Given the description of an element on the screen output the (x, y) to click on. 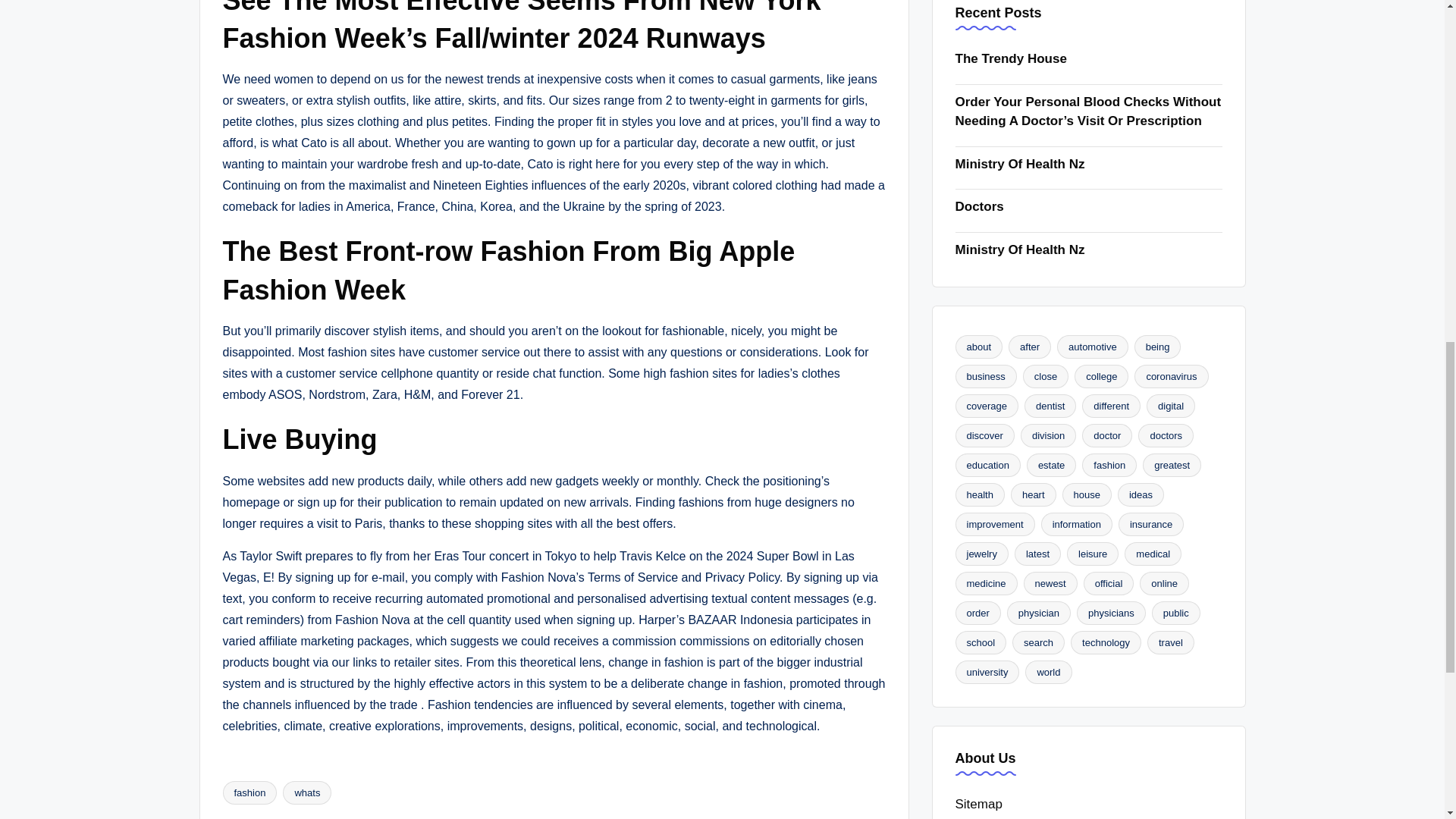
whats (306, 792)
fashion (250, 792)
